Given the description of an element on the screen output the (x, y) to click on. 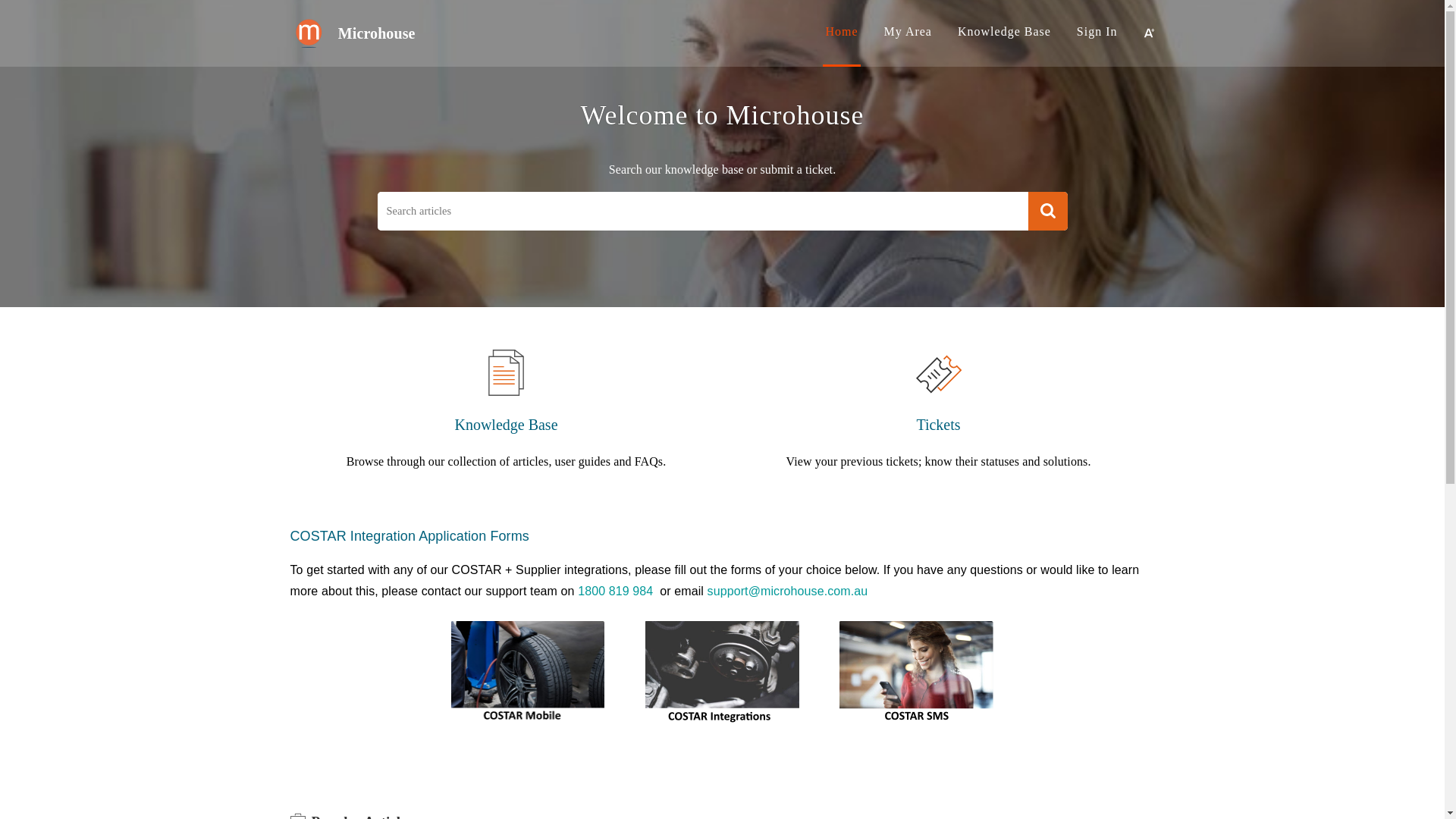
Knowledge Base Element type: text (505, 424)
1800 819 984 Element type: text (614, 590)
Sign In Element type: text (1096, 31)
Tickets Element type: text (938, 424)
Knowledge Base Element type: text (1004, 31)
My Area Element type: text (907, 31)
Home Element type: text (841, 31)
support@microhouse.com.au Element type: text (787, 590)
Search Element type: hover (1047, 210)
